Given the description of an element on the screen output the (x, y) to click on. 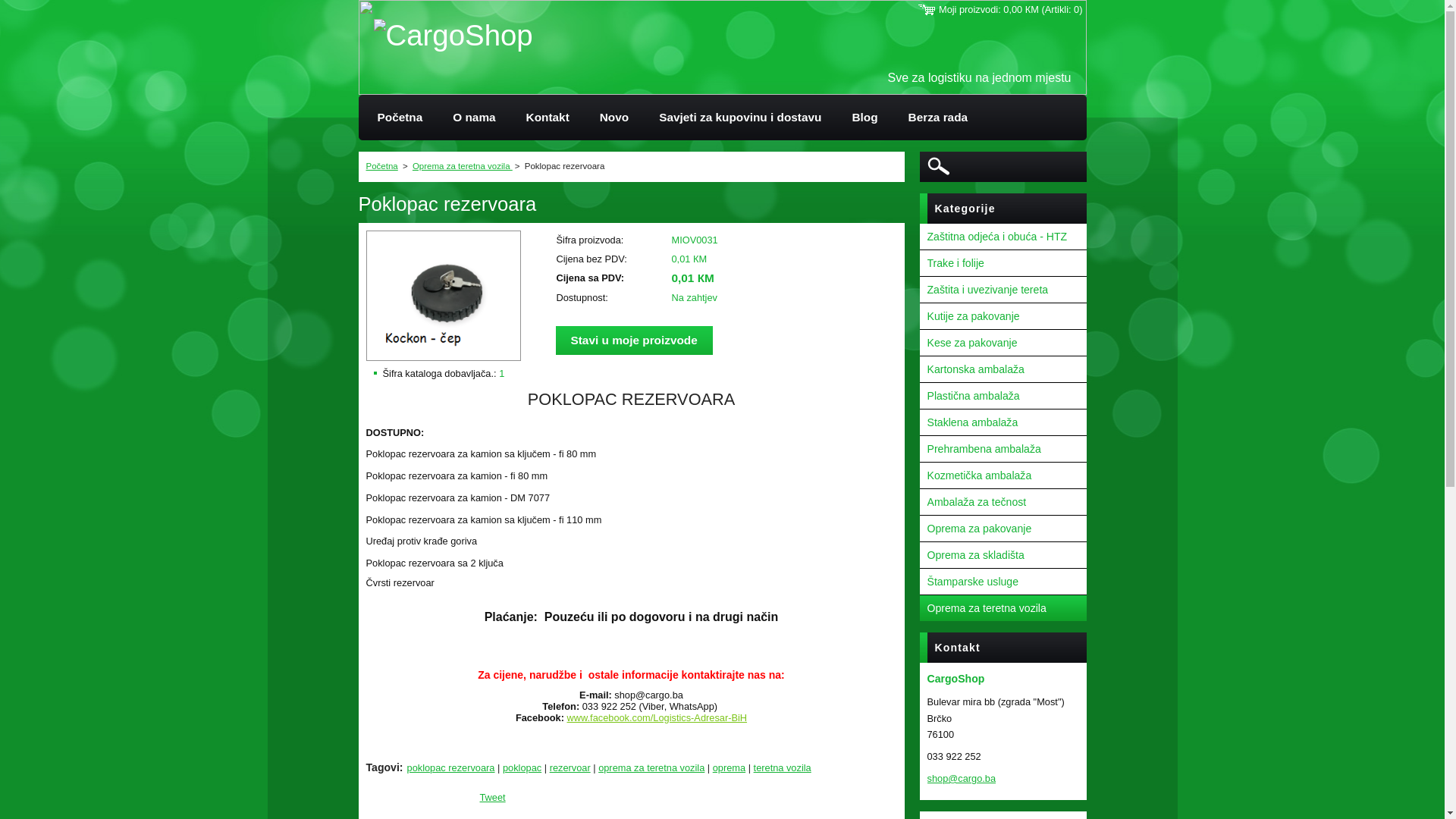
Stavi u moje proizvode Element type: text (633, 340)
Kese za pakovanje Element type: text (1002, 342)
Berza rada Element type: text (938, 117)
oprema Element type: text (728, 767)
O nama Element type: text (473, 117)
Novo Element type: text (613, 117)
www.facebook.com/Logistics-Adresar-BiH Element type: text (657, 717)
Savjeti za kupovinu i dostavu Element type: text (739, 117)
Oprema za pakovanje Element type: text (1002, 528)
oprema za teretna vozila Element type: text (651, 767)
shop@cargo.ba Element type: text (960, 778)
poklopac Element type: text (521, 767)
Kontakt Element type: text (547, 117)
Tweet Element type: text (492, 797)
rezervoar Element type: text (569, 767)
Kutije za pakovanje Element type: text (1002, 316)
Oprema za teretna vozila Element type: text (1002, 608)
poklopac rezervoara Element type: text (451, 767)
Blog Element type: text (864, 117)
Tagovi Element type: text (381, 767)
Oprema za teretna vozila Element type: text (462, 165)
Trake i folije Element type: text (1002, 263)
teretna vozila Element type: text (782, 767)
